Given the description of an element on the screen output the (x, y) to click on. 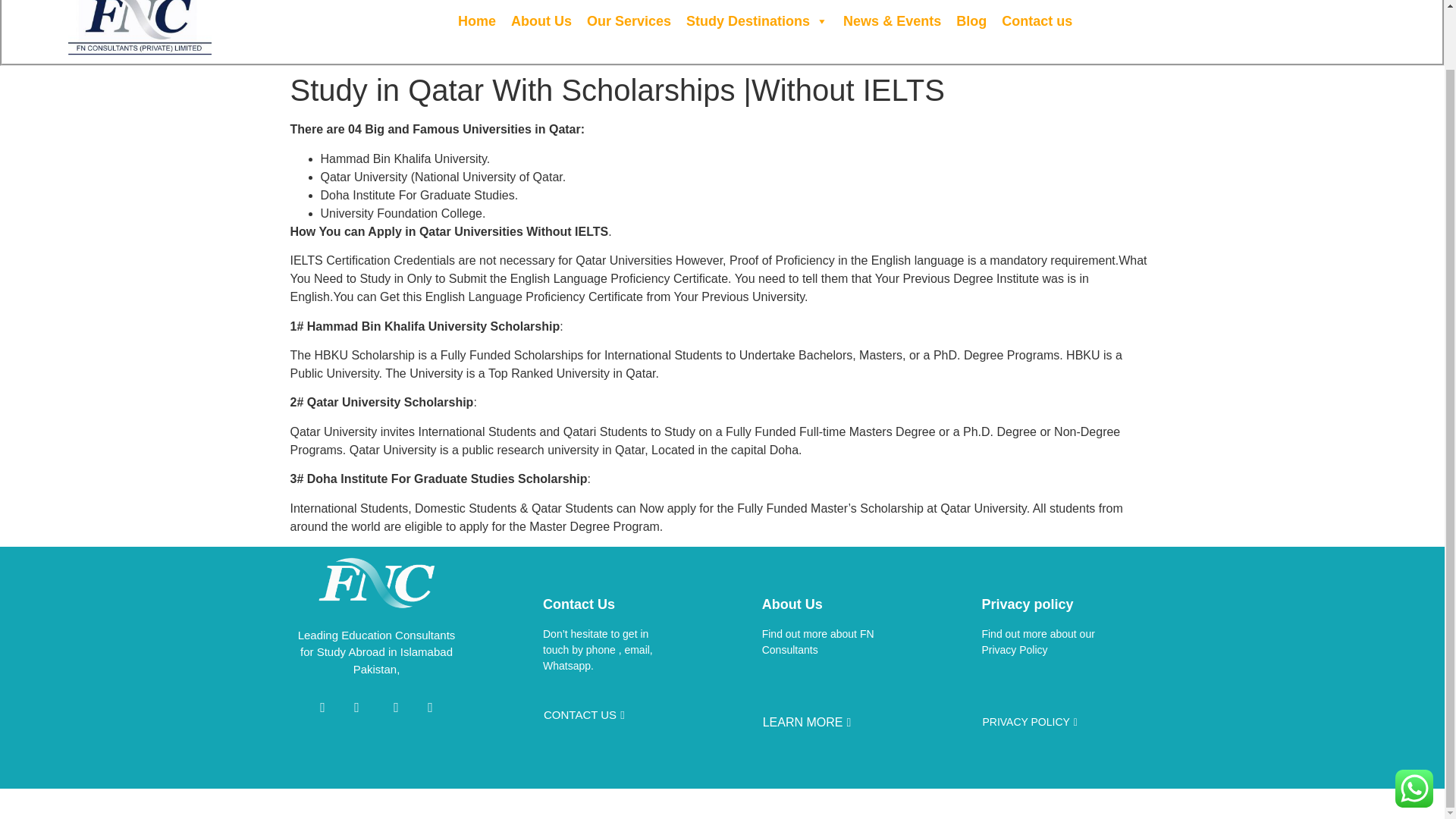
Home (476, 20)
Blog (971, 20)
CONTACT US (584, 715)
About Us (541, 20)
Study Destinations (756, 20)
PRIVACY POLICY (1029, 722)
Our Services (628, 20)
LEARN MORE (806, 722)
Contact us (1037, 20)
